Given the description of an element on the screen output the (x, y) to click on. 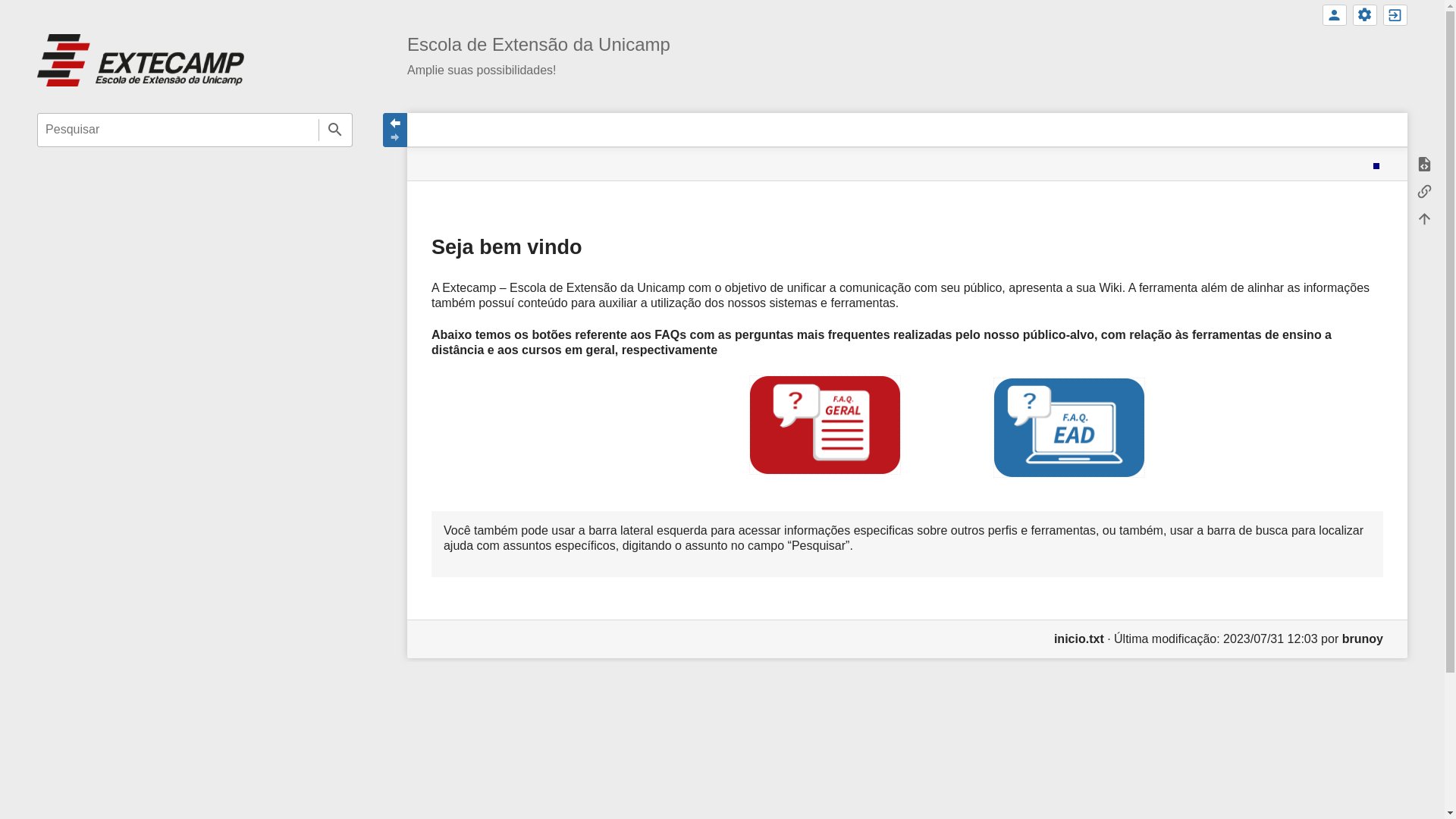
Voltar ao topo Element type: text (1424, 218)
Links reversos Element type: text (1424, 191)
Administrar Element type: hover (1364, 14)
Entrar Element type: hover (1395, 14)
Pesquisar Element type: text (335, 129)
[F] Element type: hover (194, 129)
publico:ead:info Element type: hover (907, 425)
Cadastre-se Element type: hover (1334, 14)
